Given the description of an element on the screen output the (x, y) to click on. 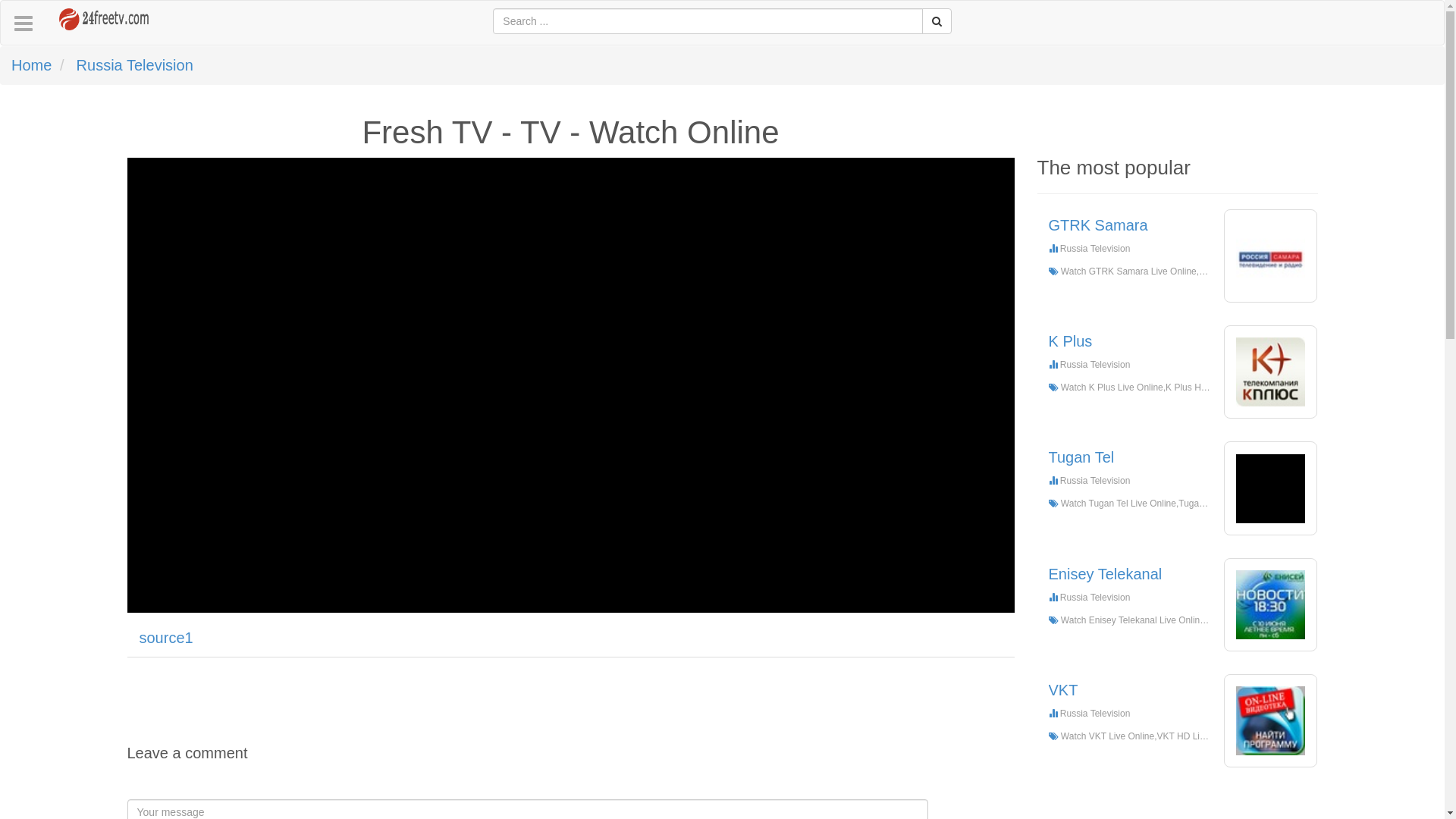
Russia Television Element type: text (134, 64)
Home Element type: hover (93, 14)
GTRK Samara Element type: hover (1270, 255)
source1 Element type: text (166, 637)
Home Element type: text (31, 64)
K Plus Element type: hover (1270, 371)
Tugan Tel Element type: hover (1270, 487)
K Plus Element type: text (1070, 340)
Enisey Telekanal Element type: hover (1270, 604)
Tugan Tel Element type: text (1080, 456)
GTRK Samara Element type: text (1097, 224)
VKT Element type: text (1062, 689)
VKT Element type: hover (1270, 720)
Enisey Telekanal Element type: text (1104, 573)
